Given the description of an element on the screen output the (x, y) to click on. 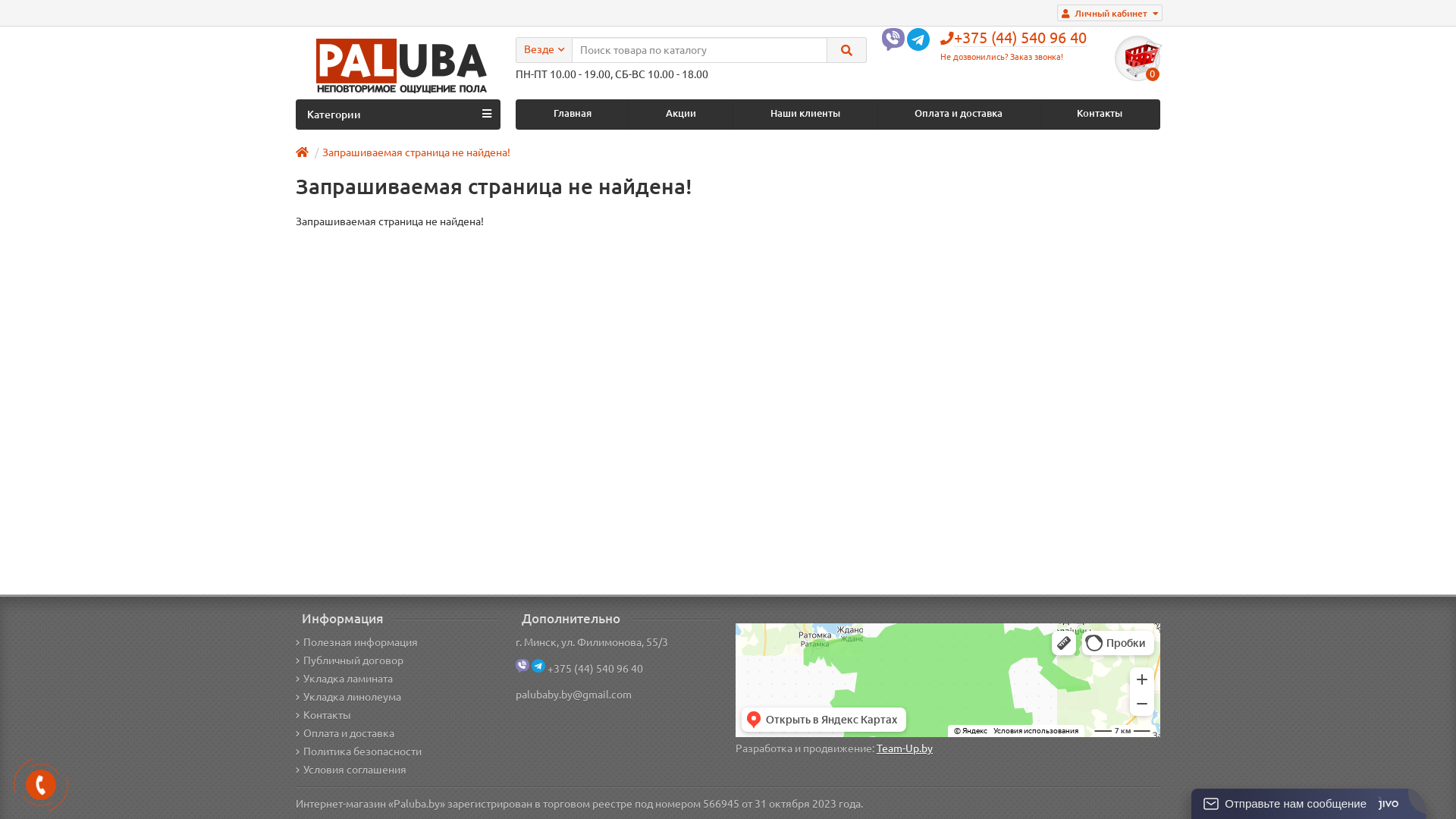
0 Element type: text (1137, 58)
+375 (44) 540 96 40 Element type: text (595, 668)
Team-Up.by Element type: text (904, 748)
palubaby.by@gmail.com Element type: text (573, 694)
Paluba.by Element type: hover (397, 65)
